Given the description of an element on the screen output the (x, y) to click on. 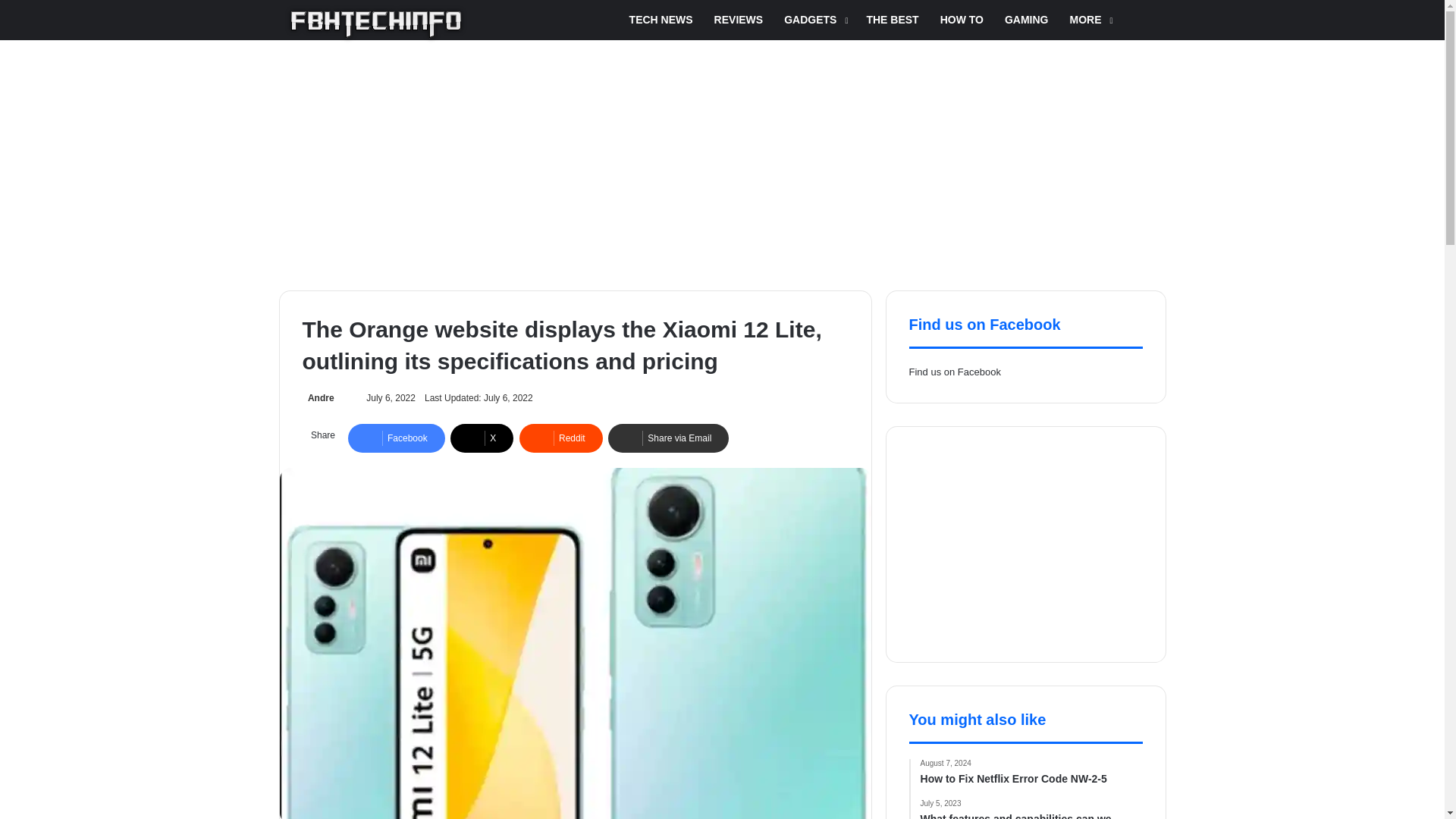
TECH NEWS (660, 20)
GADGETS (814, 20)
Reddit (560, 438)
FBHTECHINFO (376, 24)
Andre (317, 398)
Facebook (396, 438)
X (481, 438)
Share via Email (668, 438)
GAMING (1026, 20)
